Given the description of an element on the screen output the (x, y) to click on. 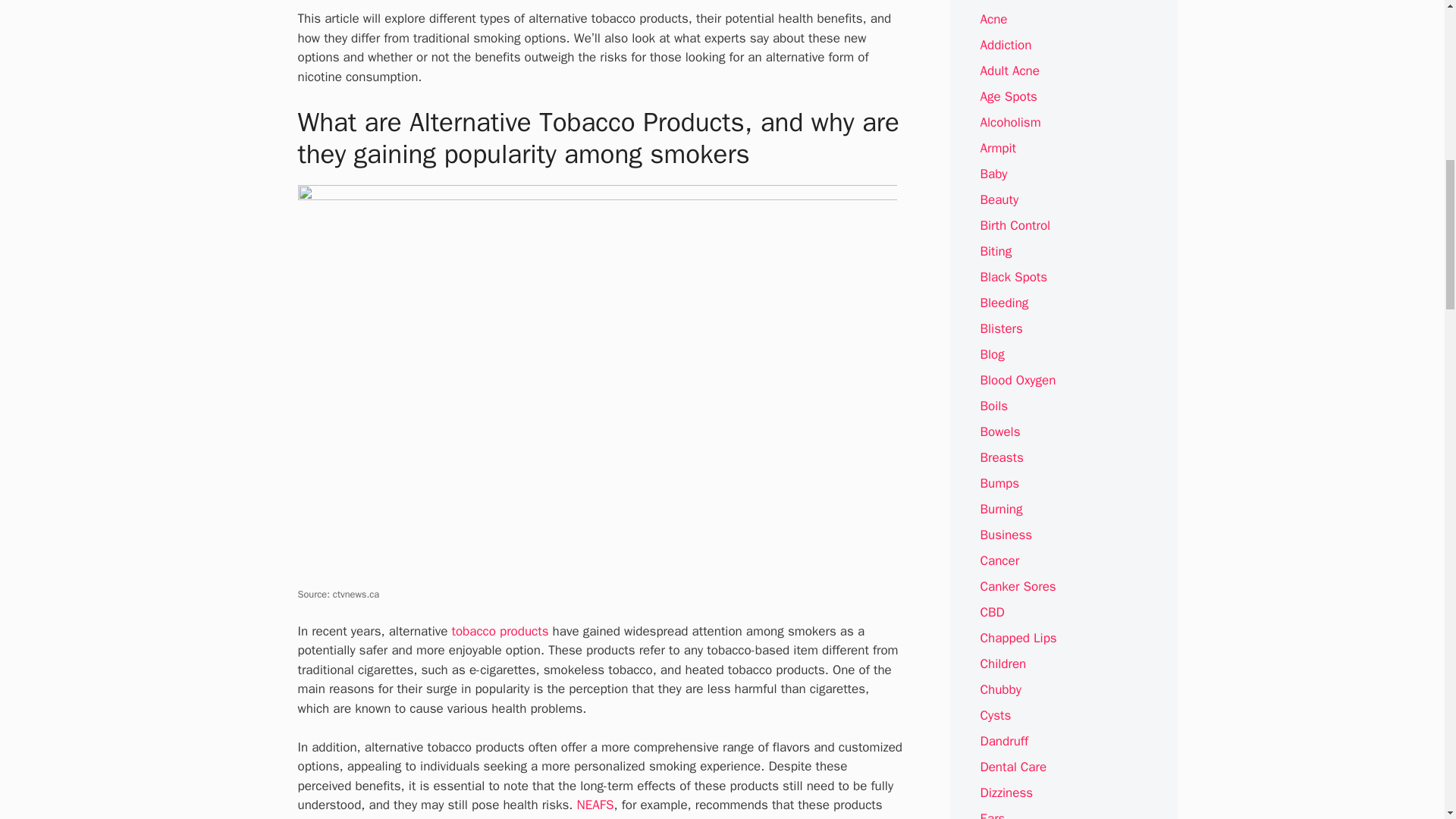
Acne (993, 19)
Accessories (1012, 0)
Armpit (997, 148)
tobacco products (499, 631)
Age Spots (1007, 96)
NEAFS (595, 804)
Addiction (1004, 44)
Adult Acne (1009, 70)
Alcoholism (1010, 122)
